Given the description of an element on the screen output the (x, y) to click on. 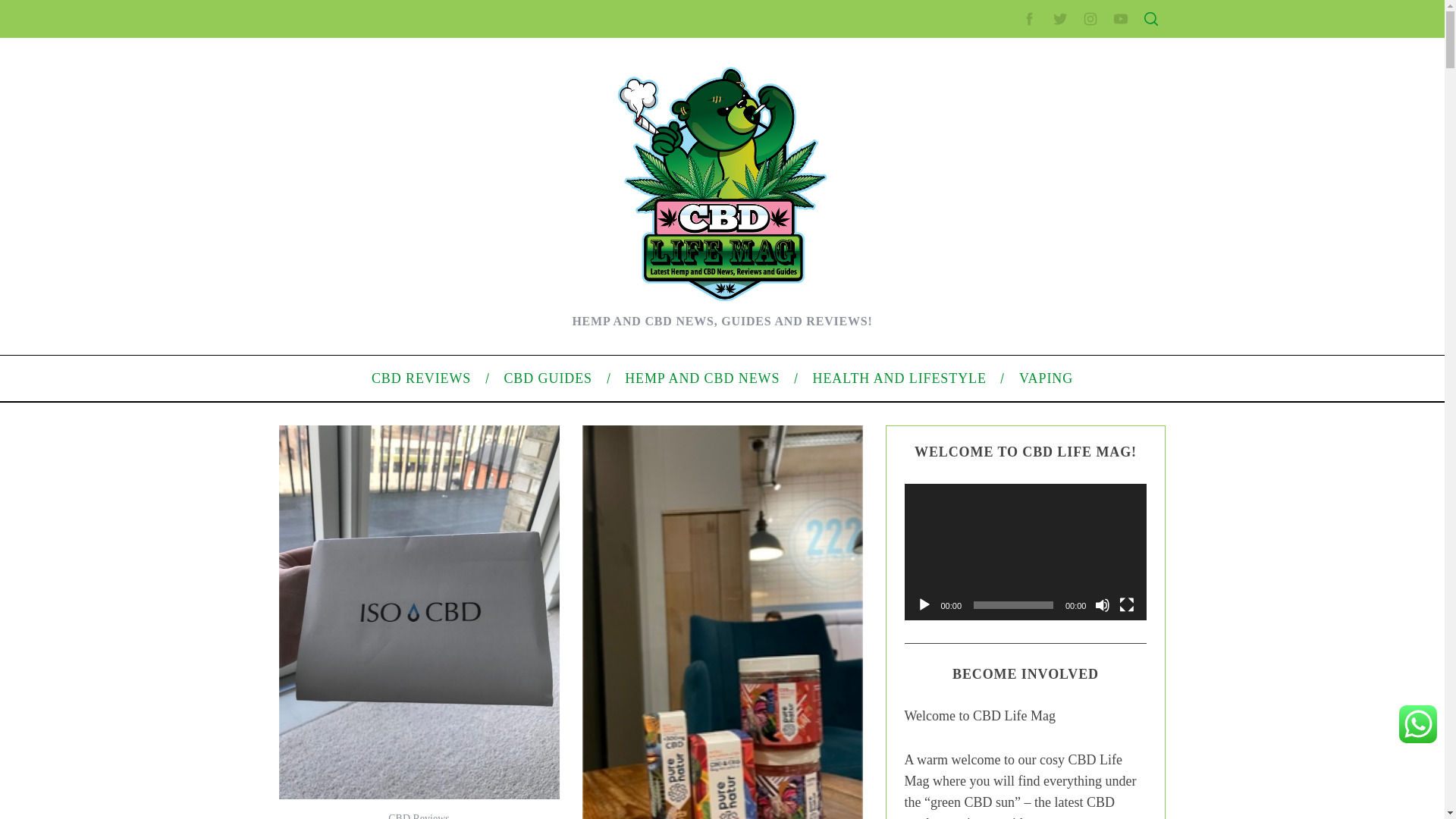
Skip to content (34, 9)
Search for: (1049, 47)
Joy On Demand: The Art Of Discovering The Happiness Within (469, 273)
The Dark Yorkshire Series: Books 4 To 6 (416, 250)
Latest Article (996, 172)
DMCA Policy (996, 282)
ADMINISTRATOR (417, 81)
Contact Us (991, 258)
Search (1050, 85)
About The Author (362, 370)
Customer Reviews (365, 322)
Blog (976, 510)
Search (1050, 85)
Search (1050, 85)
